Given the description of an element on the screen output the (x, y) to click on. 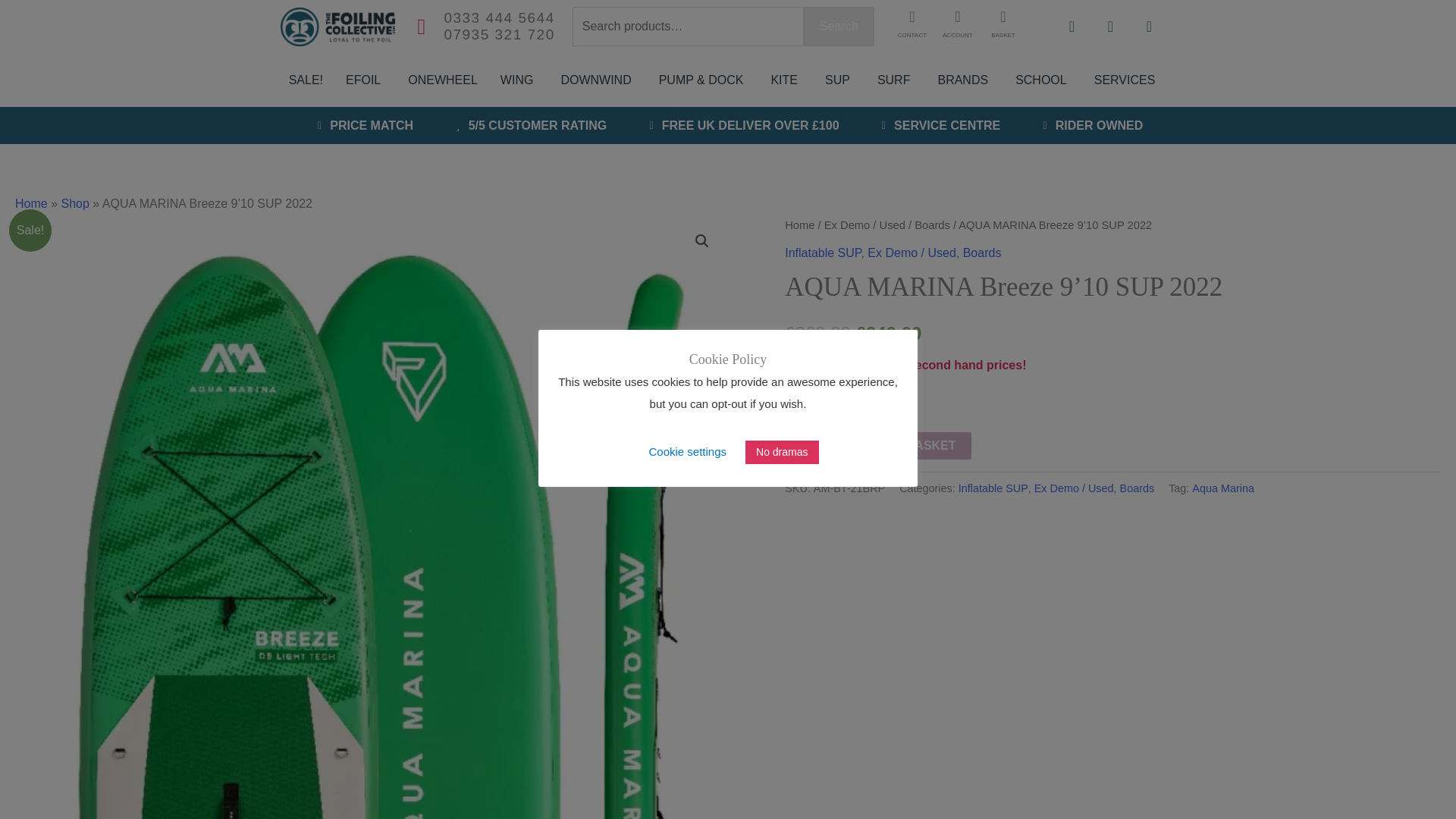
1 (806, 445)
